Given the description of an element on the screen output the (x, y) to click on. 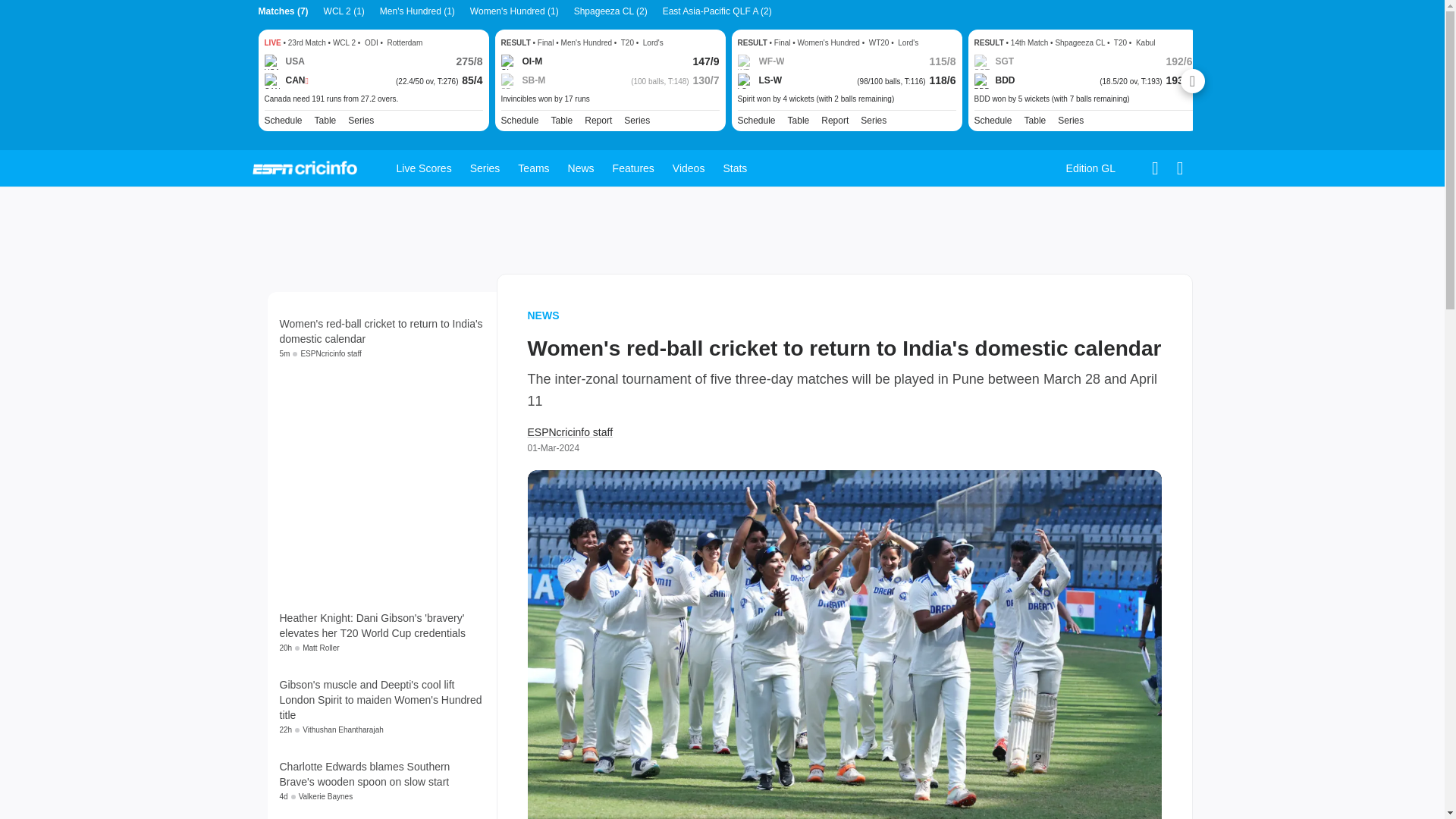
Table (325, 120)
OI-M (520, 61)
Schedule (282, 120)
Schedule (519, 120)
The Hundred Women's Competition (873, 120)
WF-W (760, 61)
Report (834, 120)
Schedule (282, 120)
USA vs CAN - 23rd Match (372, 99)
Report (598, 120)
